Given the description of an element on the screen output the (x, y) to click on. 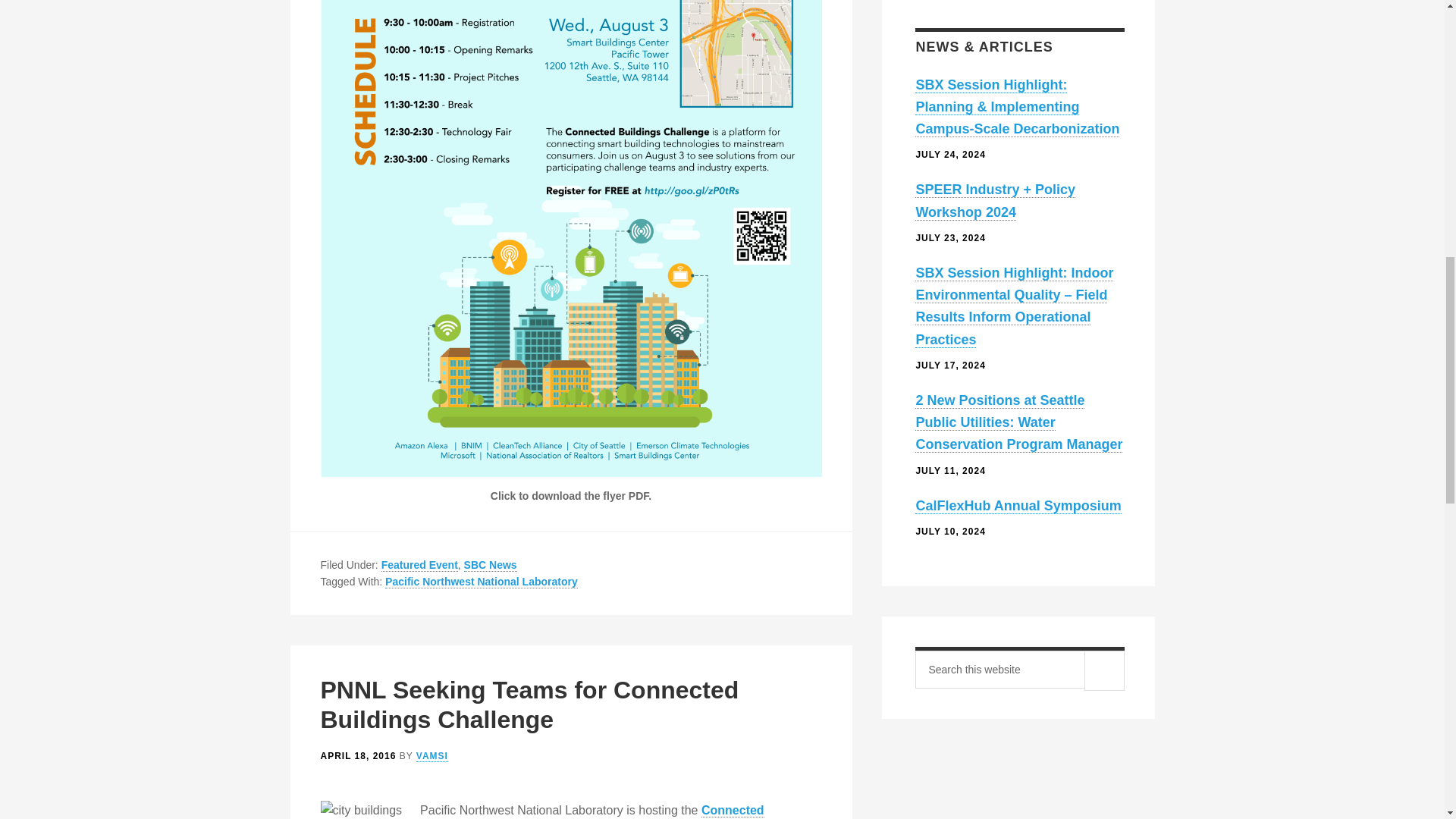
CalFlexHub Annual Symposium (1018, 505)
